Given the description of an element on the screen output the (x, y) to click on. 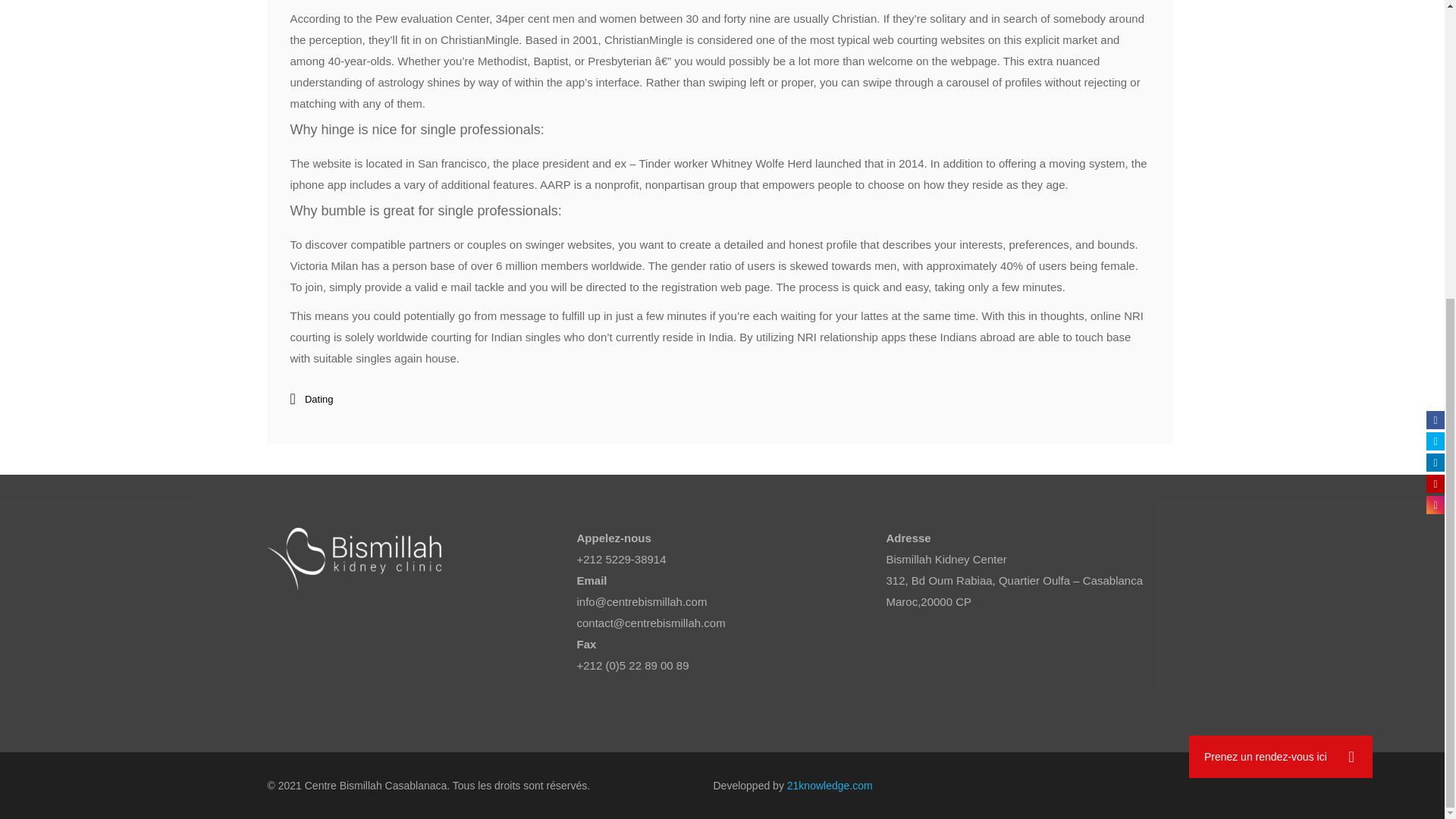
Prenez un rendez-vous ici (1281, 292)
21knowledge.com (829, 785)
Dating (318, 398)
